Given the description of an element on the screen output the (x, y) to click on. 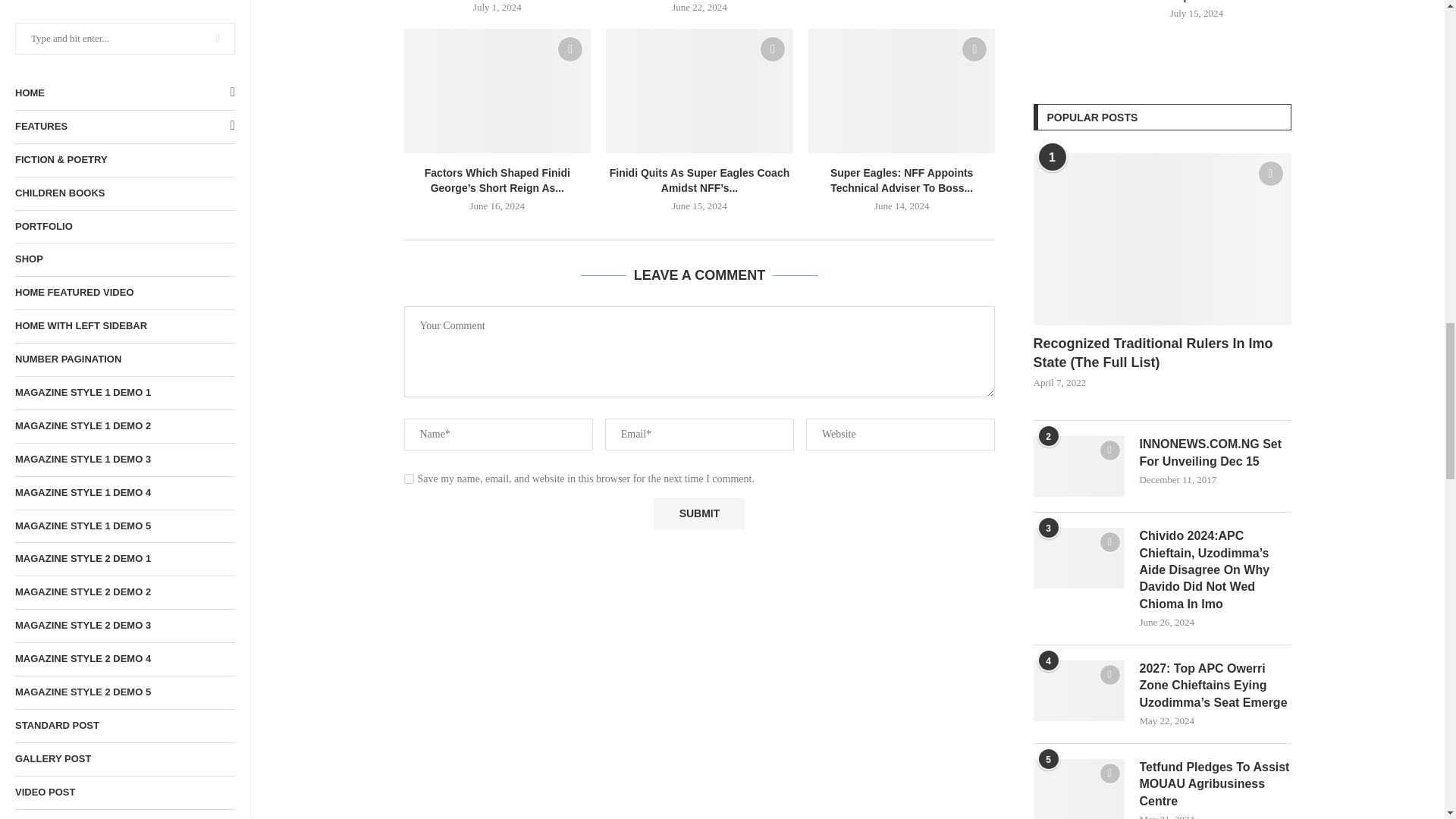
yes (408, 479)
Submit (698, 513)
